Given the description of an element on the screen output the (x, y) to click on. 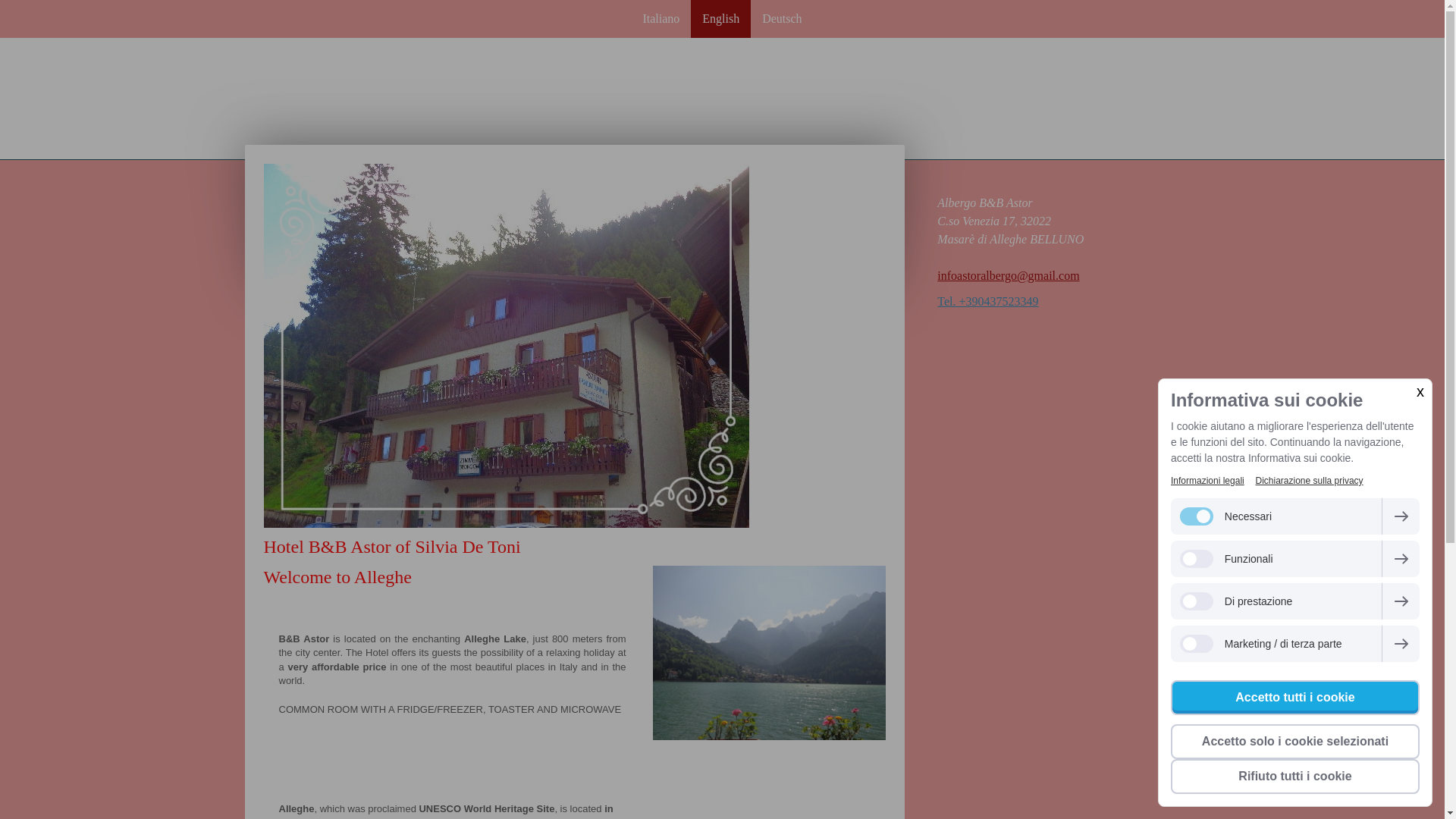
Deutsch (781, 18)
Italiano (660, 18)
English (720, 18)
